Given the description of an element on the screen output the (x, y) to click on. 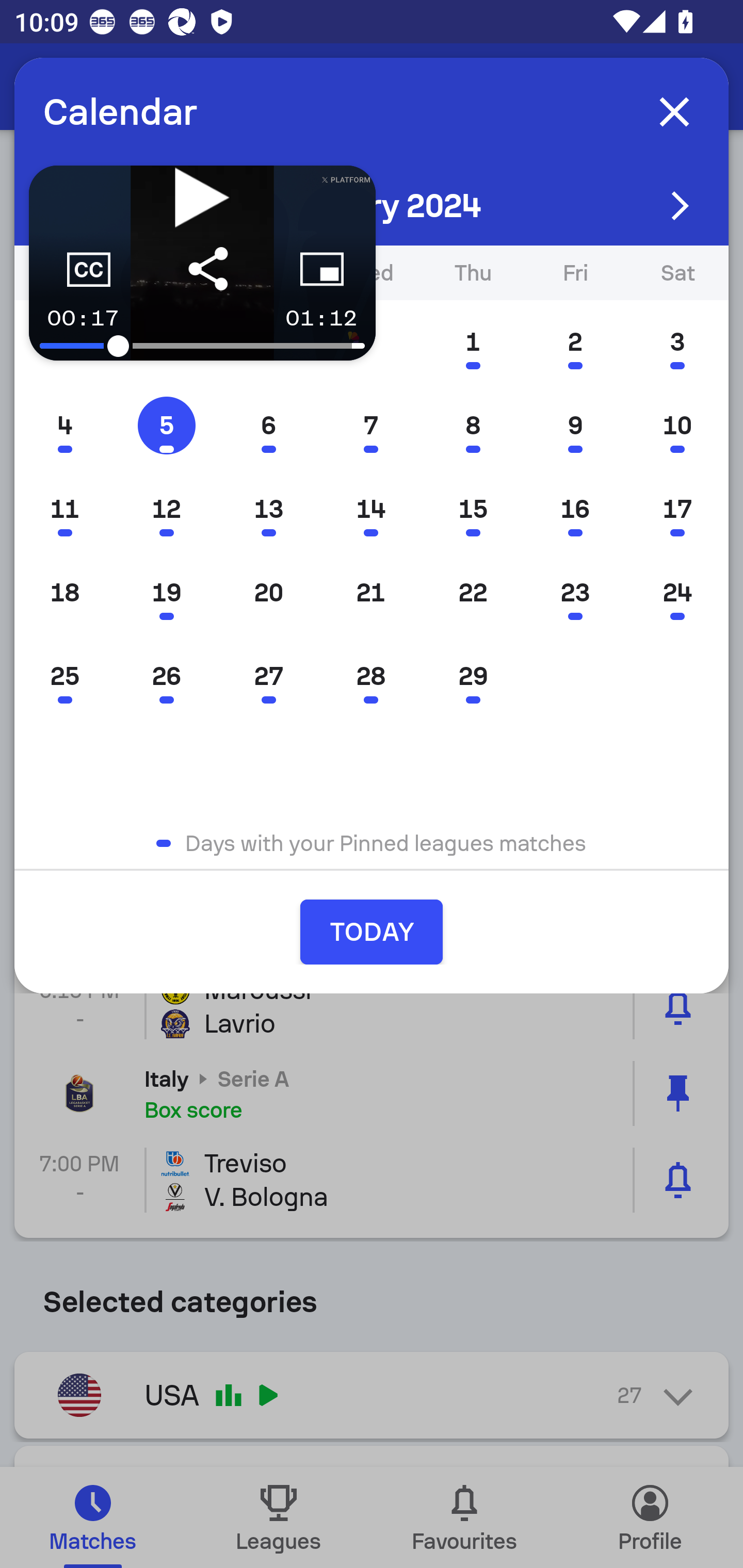
1 (473, 341)
2 (575, 341)
3 (677, 341)
4 (64, 425)
5 (166, 425)
6 (268, 425)
7 (371, 425)
8 (473, 425)
9 (575, 425)
10 (677, 425)
11 (64, 508)
12 (166, 508)
13 (268, 508)
14 (371, 508)
15 (473, 508)
16 (575, 508)
17 (677, 508)
18 (64, 592)
19 (166, 592)
20 (268, 592)
21 (371, 592)
22 (473, 592)
23 (575, 592)
24 (677, 592)
25 (64, 676)
26 (166, 676)
27 (268, 676)
28 (371, 676)
29 (473, 676)
TODAY (371, 932)
